Given the description of an element on the screen output the (x, y) to click on. 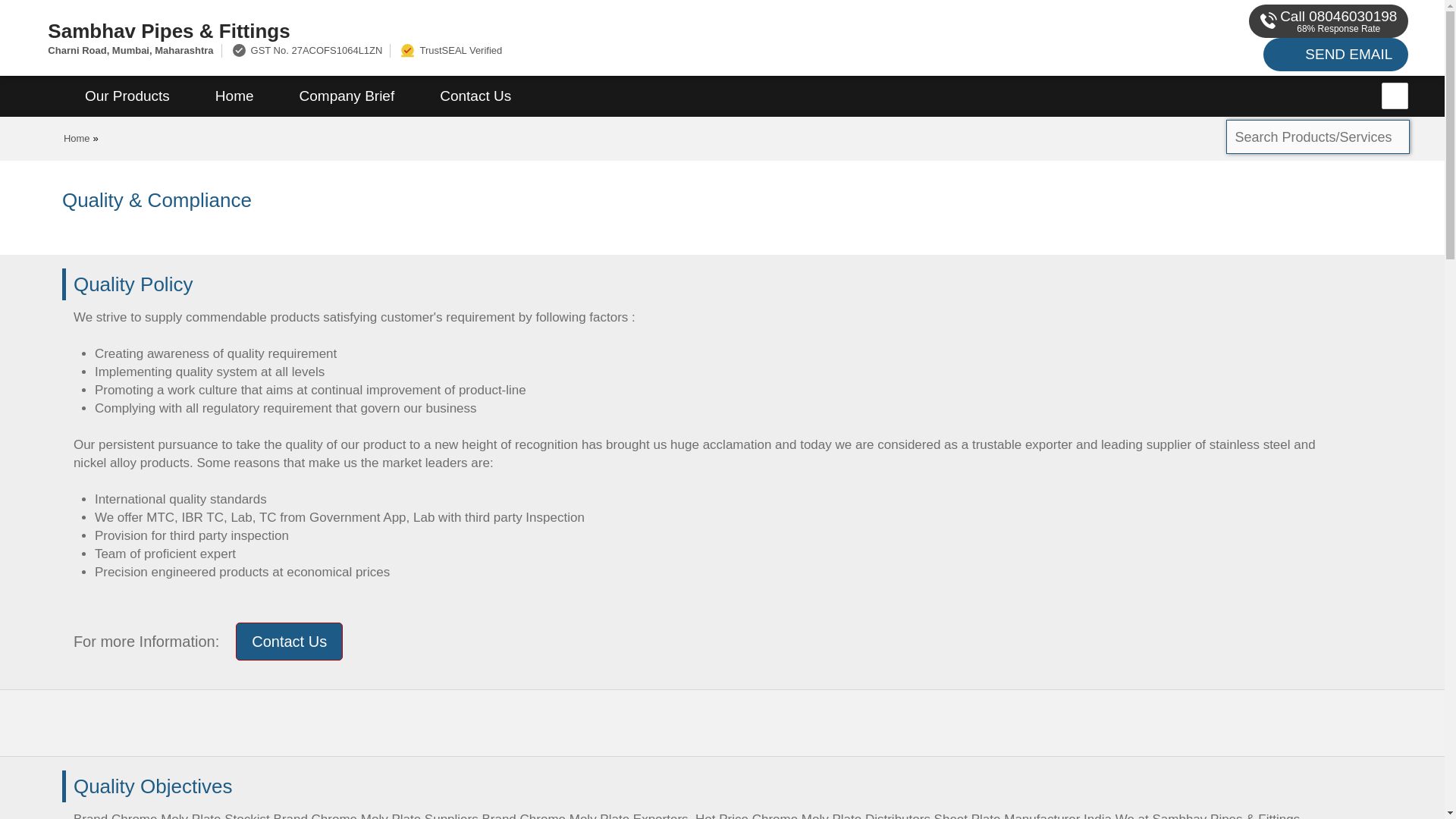
Home (234, 96)
Home (77, 138)
Contact Us (475, 96)
Our Products (127, 96)
Company Brief (346, 96)
